Given the description of an element on the screen output the (x, y) to click on. 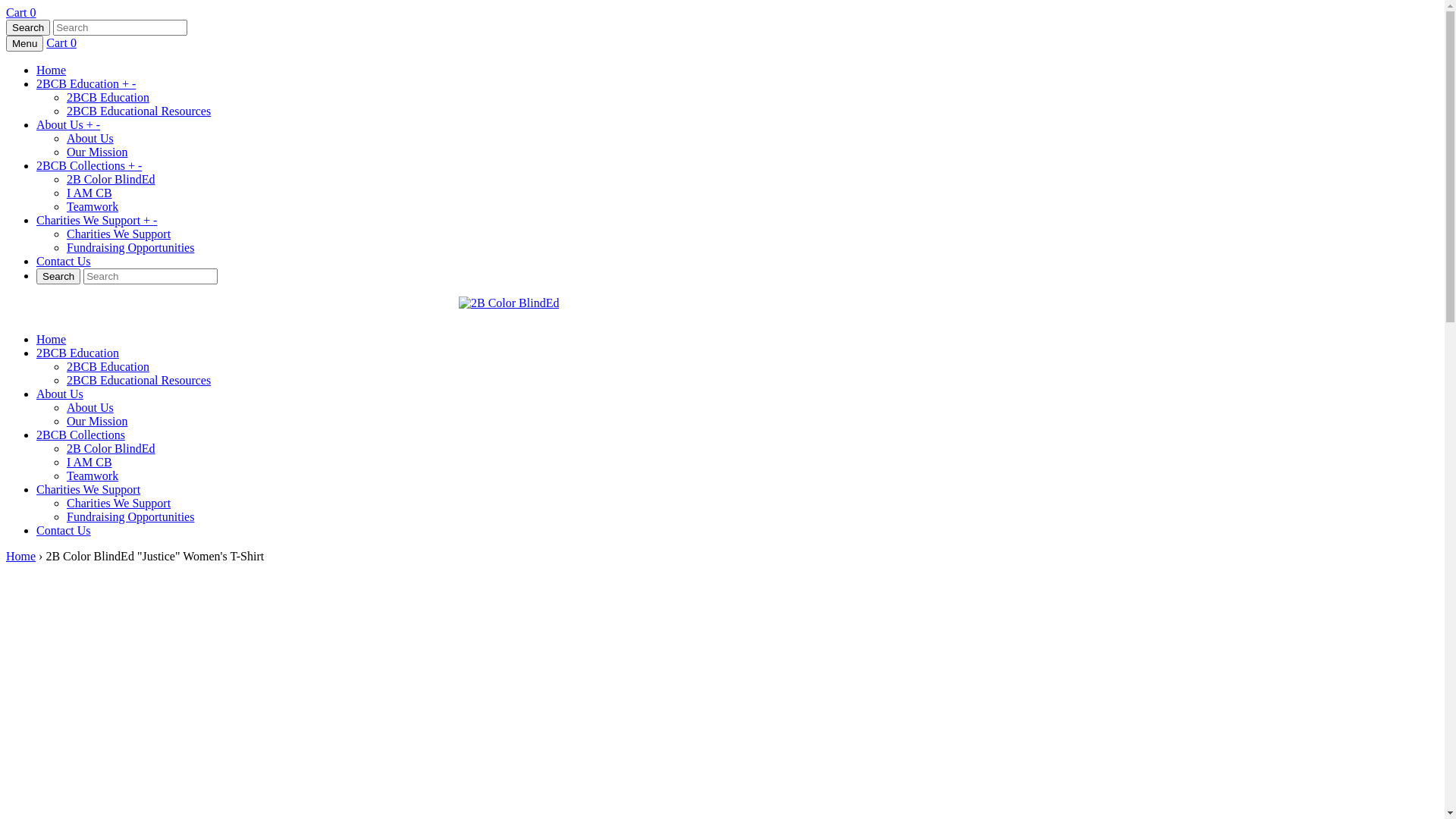
Home Element type: text (20, 555)
Search Element type: text (28, 27)
Charities We Support Element type: text (118, 502)
Our Mission Element type: text (96, 151)
2BCB Education Element type: text (107, 366)
2BCB Education Element type: text (77, 352)
Teamwork Element type: text (92, 206)
Our Mission Element type: text (96, 420)
2BCB Educational Resources Element type: text (138, 110)
Home Element type: text (50, 338)
About Us Element type: text (89, 407)
2BCB Education Element type: text (107, 97)
Contact Us Element type: text (63, 530)
2BCB Education + - Element type: text (85, 83)
About Us Element type: text (89, 137)
Fundraising Opportunities Element type: text (130, 247)
Home Element type: text (50, 69)
I AM CB Element type: text (89, 461)
2BCB Collections Element type: text (80, 434)
Charities We Support + - Element type: text (96, 219)
Cart 0 Element type: text (21, 12)
Cart 0 Element type: text (61, 42)
2B Color BlindEd Element type: text (110, 178)
Menu Element type: text (24, 43)
Teamwork Element type: text (92, 475)
About Us Element type: text (59, 393)
2BCB Educational Resources Element type: text (138, 379)
I AM CB Element type: text (89, 192)
2BCB Collections + - Element type: text (88, 165)
Charities We Support Element type: text (118, 233)
Charities We Support Element type: text (88, 489)
2B Color BlindEd Element type: text (110, 448)
Contact Us Element type: text (63, 260)
Fundraising Opportunities Element type: text (130, 516)
Search Element type: text (58, 276)
About Us + - Element type: text (68, 124)
